Given the description of an element on the screen output the (x, y) to click on. 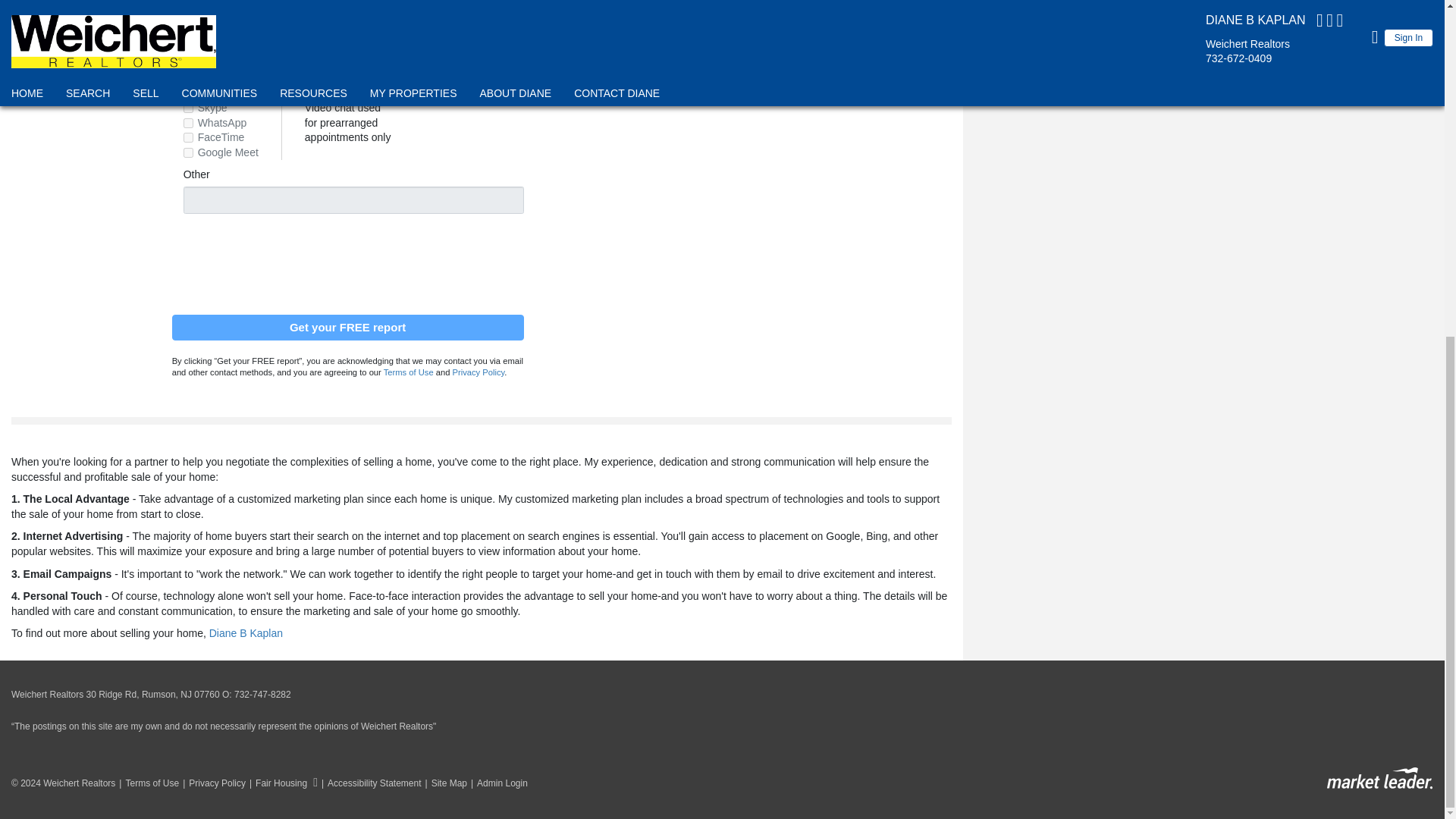
Diane B Kaplan (245, 633)
Mobile (496, 15)
Get your FREE report (347, 327)
Zoom (188, 93)
on (188, 43)
Privacy Policy (212, 783)
Facetime (188, 137)
Terms of Use (408, 371)
Skype (188, 108)
Powered By Market Leader (1379, 778)
